Given the description of an element on the screen output the (x, y) to click on. 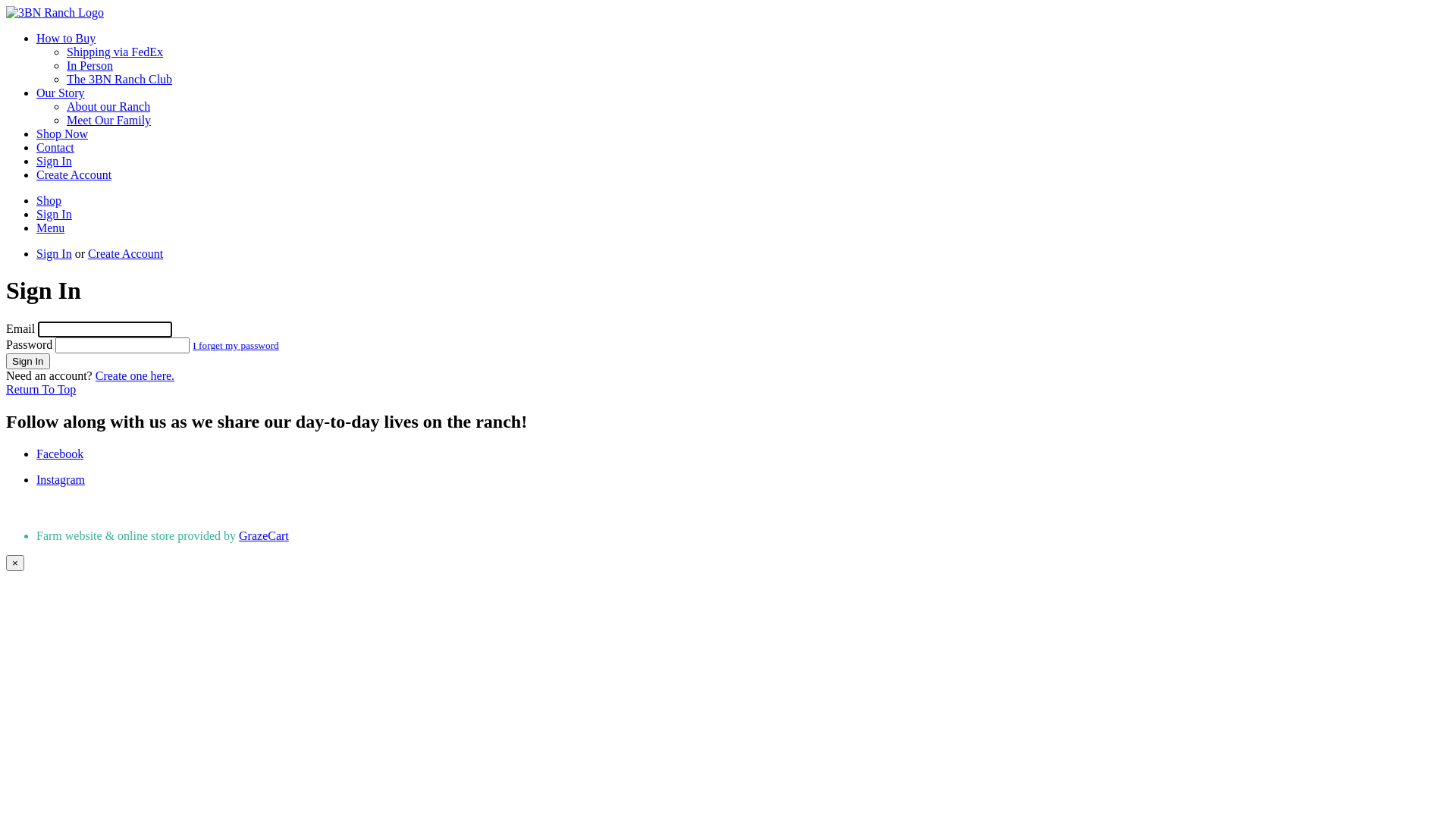
I forget my password Element type: text (235, 345)
Create Account Element type: text (73, 174)
Shop Element type: text (48, 200)
Shipping via FedEx Element type: text (114, 51)
Contact Element type: text (55, 147)
Sign In Element type: text (28, 361)
Our Story Element type: text (60, 92)
How to Buy Element type: text (65, 37)
Create Account Element type: text (125, 253)
Facebook Element type: text (59, 453)
About our Ranch Element type: text (108, 106)
The 3BN Ranch Club Element type: text (119, 78)
Meet Our Family Element type: text (108, 119)
Shop Now Element type: text (61, 133)
Return To Top Element type: text (40, 388)
Menu Element type: text (50, 227)
Instagram Element type: text (60, 479)
Sign In Element type: text (54, 253)
GrazeCart Element type: text (263, 535)
Sign In Element type: text (54, 160)
Sign In Element type: text (54, 213)
Create one here. Element type: text (134, 375)
In Person Element type: text (89, 65)
